Given the description of an element on the screen output the (x, y) to click on. 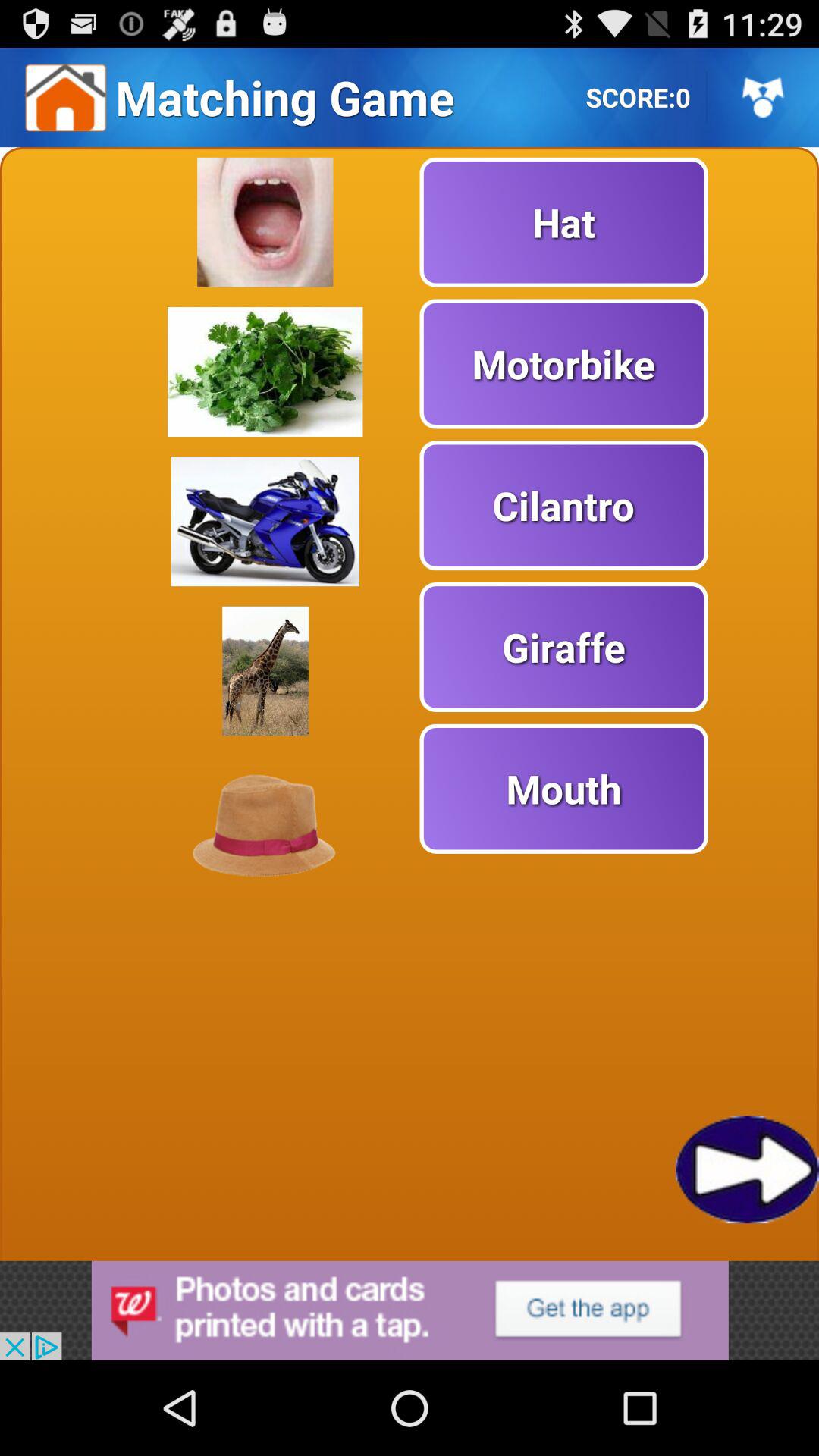
move forward (747, 1169)
